Given the description of an element on the screen output the (x, y) to click on. 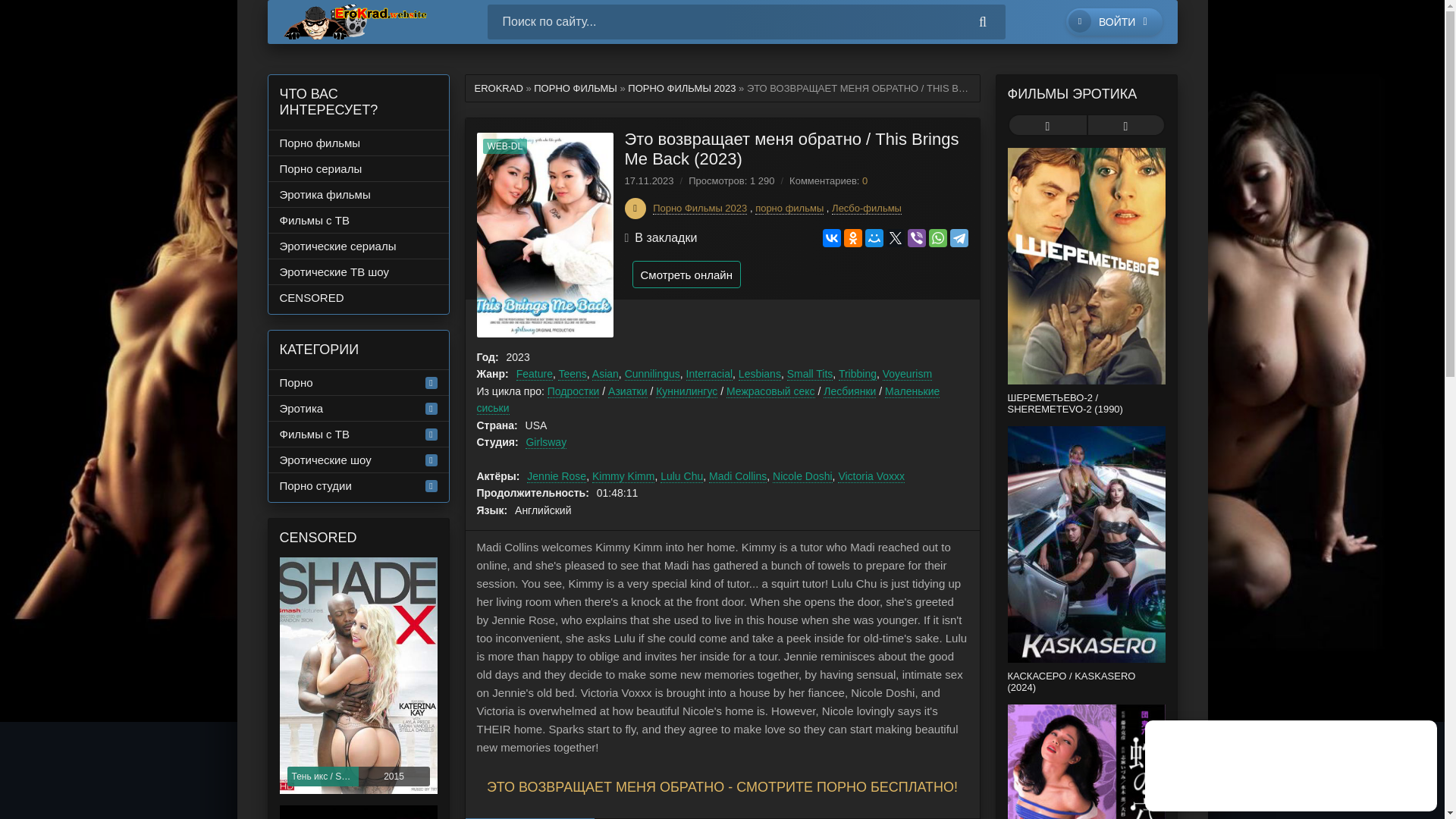
Twitter (894, 238)
Teens (571, 373)
Feature (534, 373)
Tribbing (857, 373)
WhatsApp (937, 238)
Girlsway (545, 441)
Interracial (708, 373)
Voyeurism (906, 373)
Viber (915, 238)
Telegram (958, 238)
Cunnilingus (651, 373)
Lesbians (759, 373)
Kimmy Kimm (622, 476)
Asian (605, 373)
Jennie Rose (556, 476)
